Given the description of an element on the screen output the (x, y) to click on. 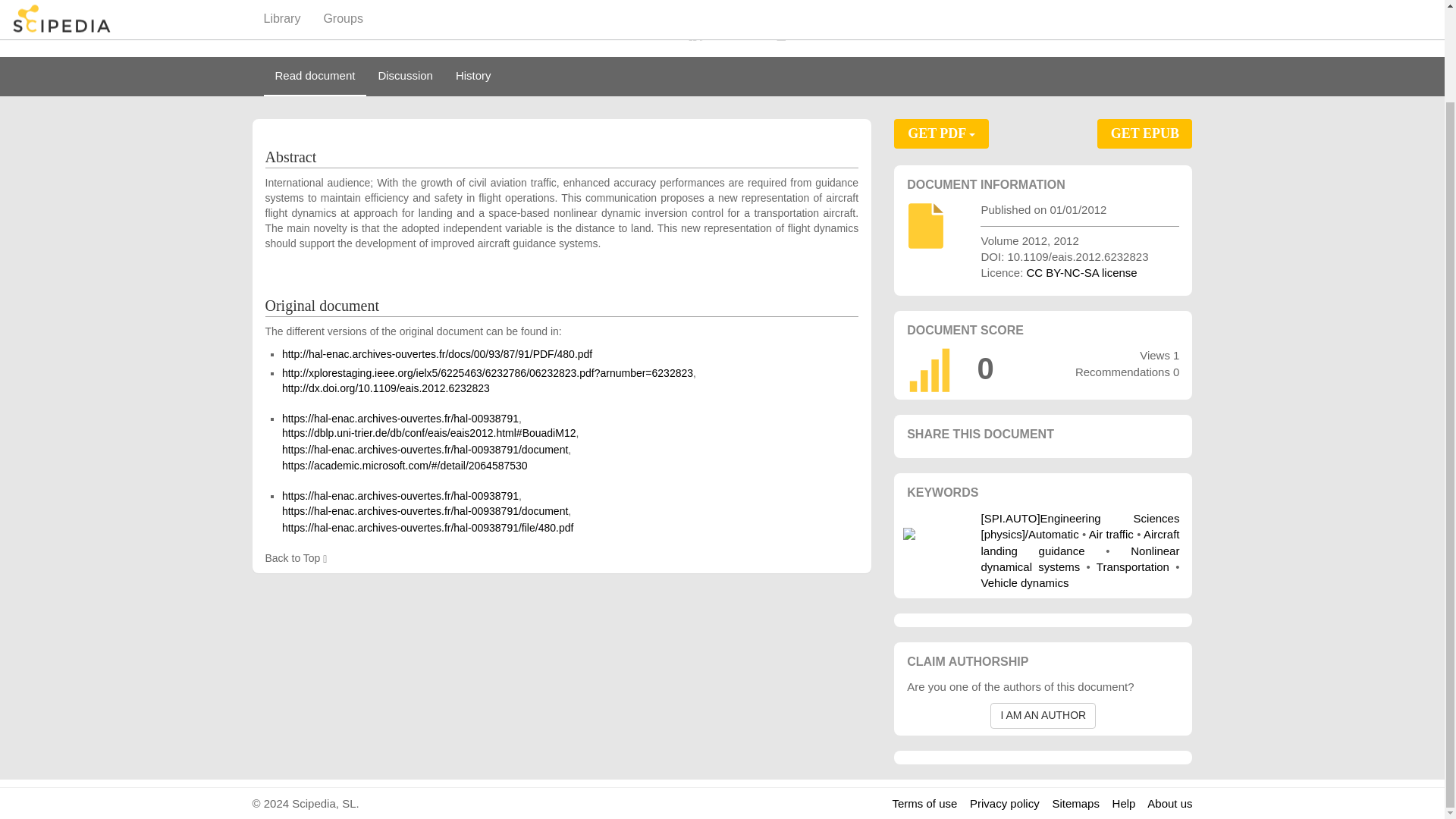
GET EPUB (1144, 133)
Discussion (405, 76)
GET PDF (940, 133)
Nonlinear dynamical systems (1079, 558)
CC BY-NC-SA license (1081, 272)
History (473, 76)
Read document (314, 76)
Document data (816, 32)
Air traffic (1111, 533)
How to cite (725, 32)
Aircraft landing guidance (1079, 541)
